Given the description of an element on the screen output the (x, y) to click on. 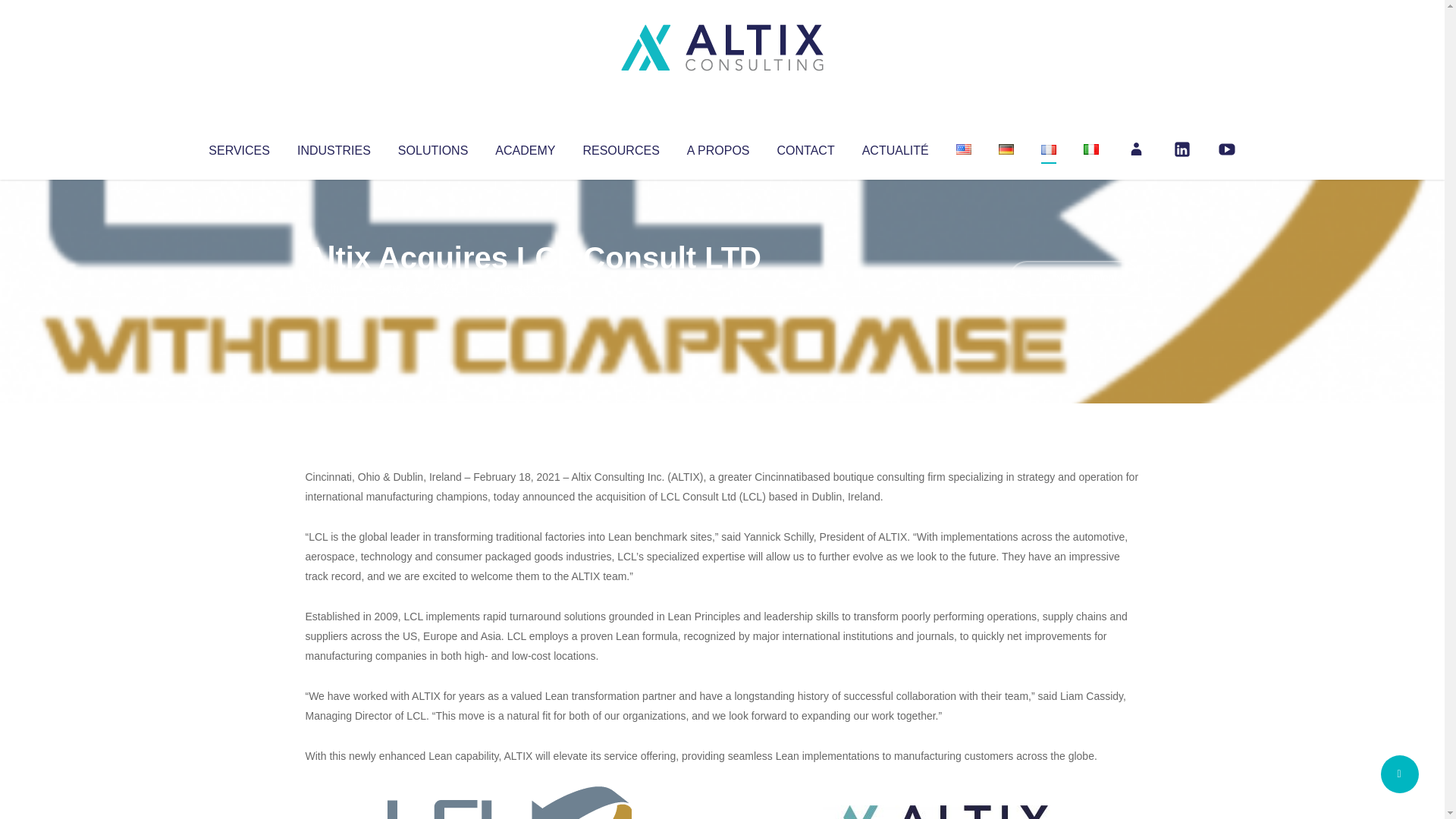
RESOURCES (620, 146)
Uncategorized (530, 287)
SOLUTIONS (432, 146)
ACADEMY (524, 146)
INDUSTRIES (334, 146)
Articles par Altix (333, 287)
No Comments (1073, 278)
Altix (333, 287)
A PROPOS (718, 146)
SERVICES (238, 146)
